Given the description of an element on the screen output the (x, y) to click on. 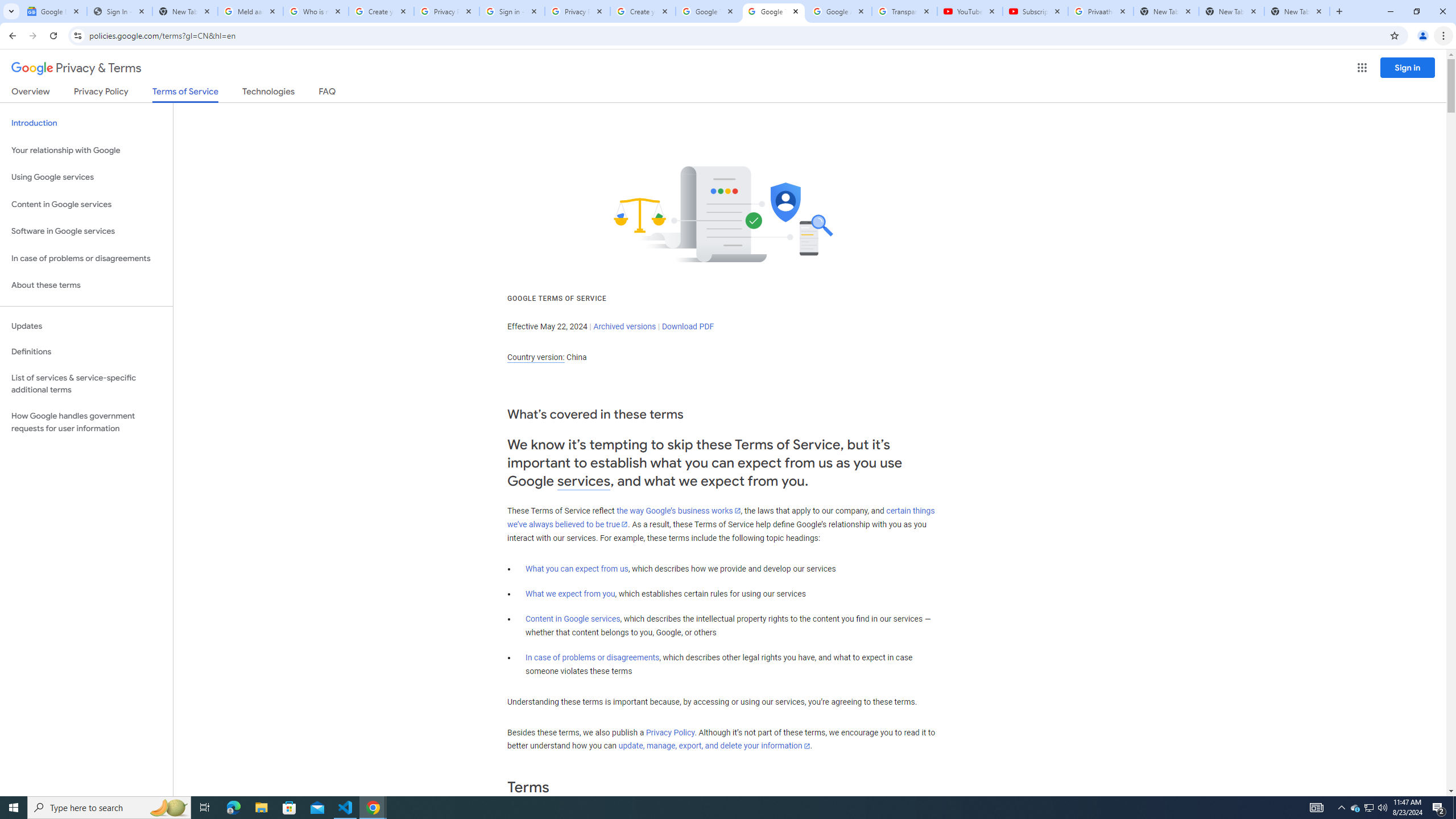
Sign In - USA TODAY (119, 11)
New Tab (1297, 11)
Your relationship with Google (86, 150)
